Given the description of an element on the screen output the (x, y) to click on. 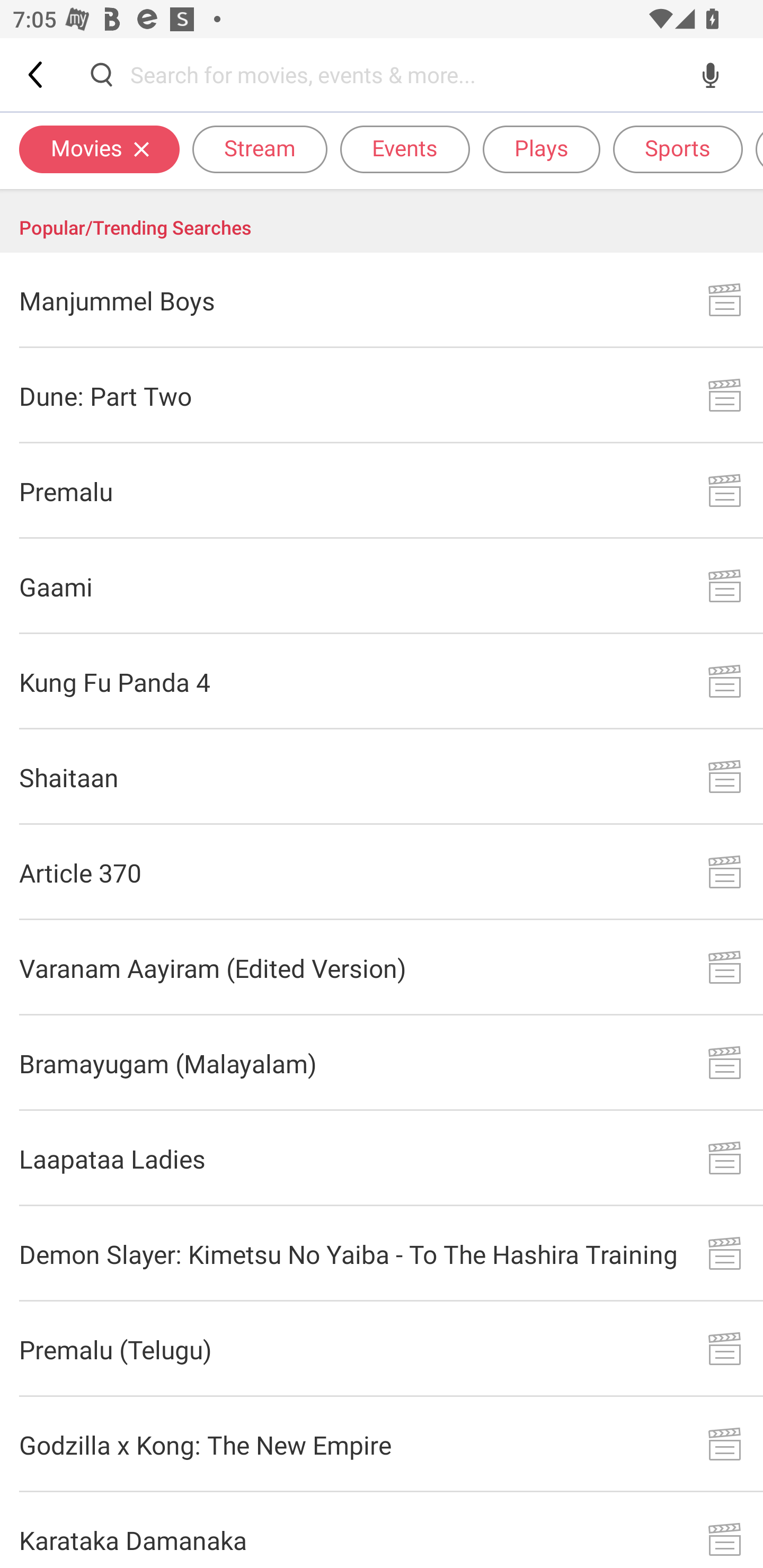
Back (36, 74)
Search for movies, events & more... (406, 74)
Movies Clear (99, 148)
Stream (259, 148)
Events (405, 148)
Plays (541, 148)
Sports (677, 148)
Popular/Trending Searches (381, 220)
Manjummel Boys (381, 300)
Dune: Part Two (381, 395)
Premalu (381, 491)
Gaami (381, 586)
Kung Fu Panda 4 (381, 681)
Shaitaan (381, 776)
Article 370 (381, 872)
Varanam Aayiram (Edited Version) (381, 968)
Bramayugam (Malayalam) (381, 1063)
Laapataa Ladies (381, 1157)
Premalu (Telugu) (381, 1349)
Godzilla x Kong: The New Empire (381, 1444)
Karataka Damanaka (381, 1530)
